Given the description of an element on the screen output the (x, y) to click on. 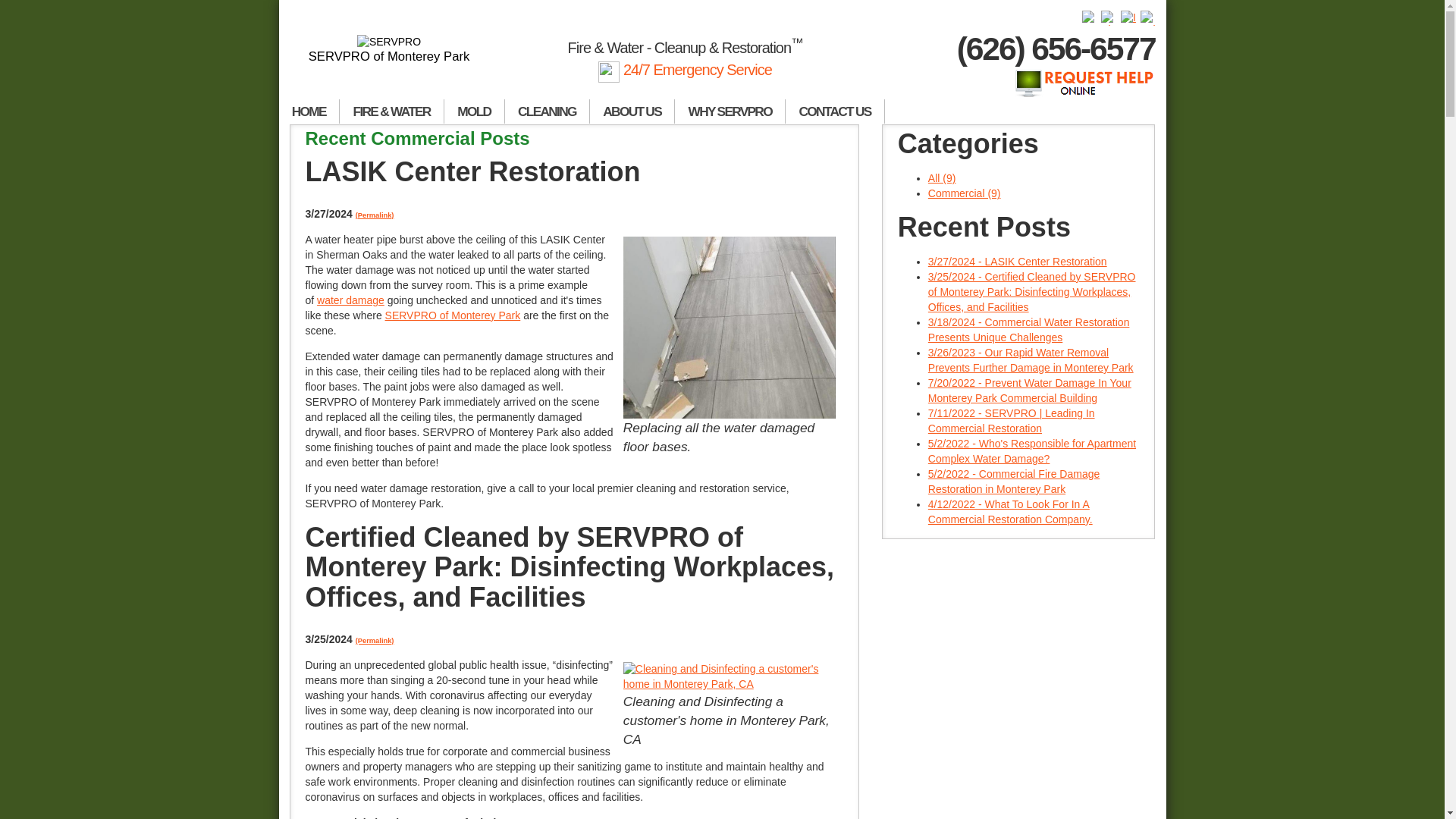
MOLD (474, 111)
HOME (309, 111)
CLEANING (547, 111)
SERVPRO of Monterey Park (389, 49)
ABOUT US (632, 111)
